Given the description of an element on the screen output the (x, y) to click on. 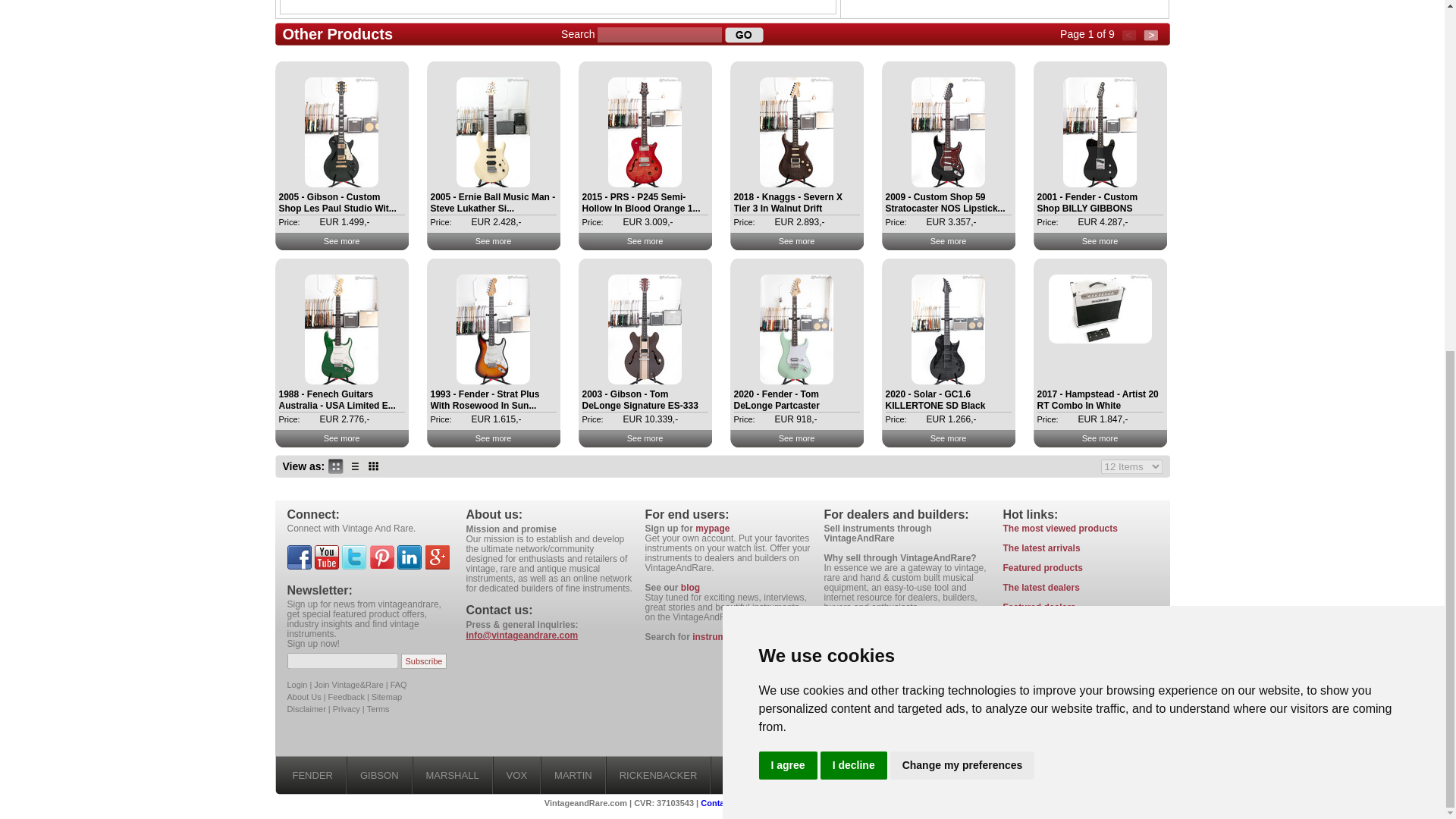
I agree (787, 156)
Change my preferences (962, 156)
I decline (853, 156)
Subscribe (423, 660)
